Given the description of an element on the screen output the (x, y) to click on. 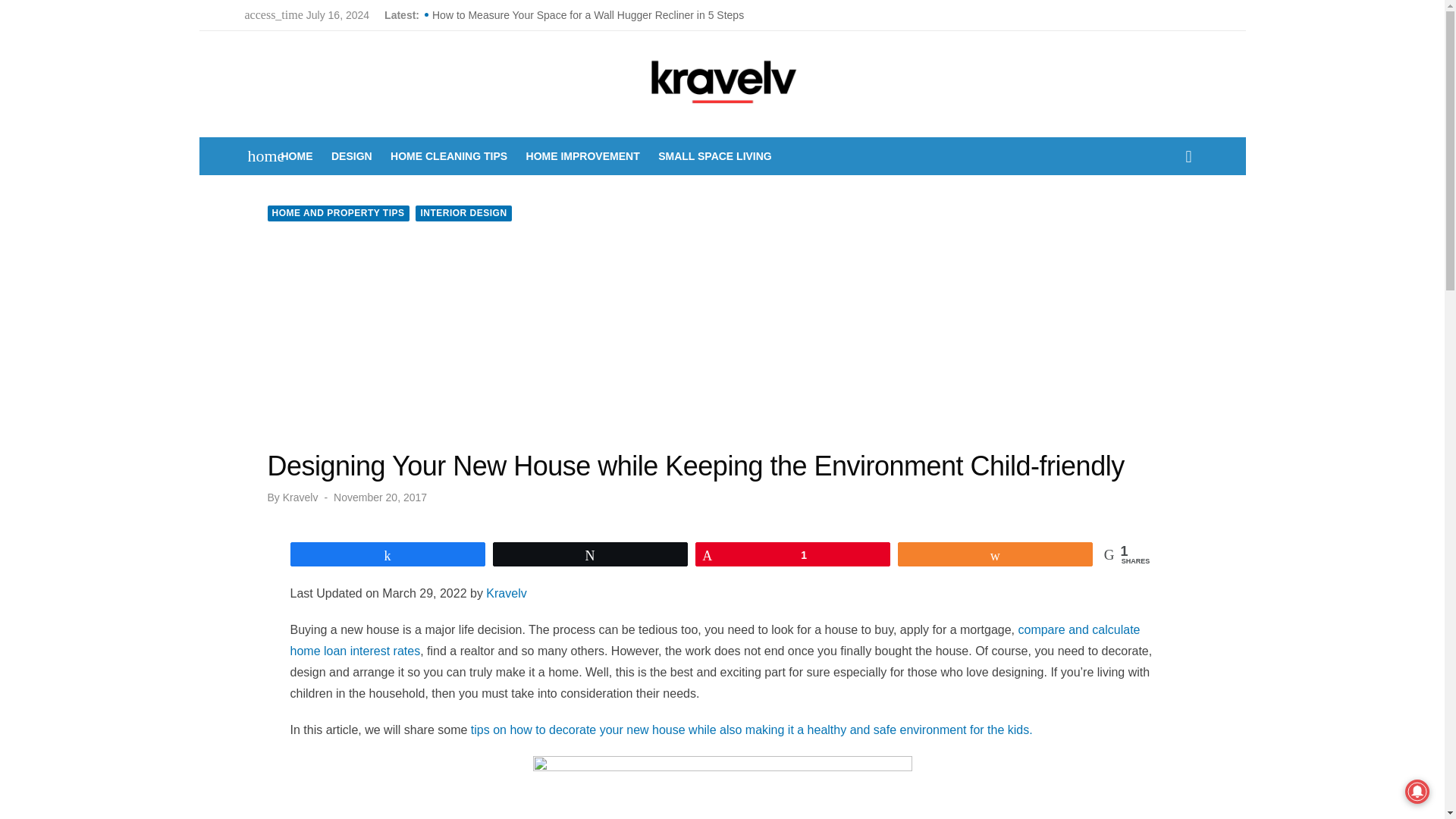
home (258, 155)
November 20, 2017 (379, 497)
HOME CLEANING TIPS (449, 156)
INTERIOR DESIGN (462, 213)
Home Improvement Tips (582, 156)
Small Space Living (714, 156)
SMALL SPACE LIVING (714, 156)
Kravelv (300, 497)
HOME AND PROPERTY TIPS (337, 213)
compare and calculate home loan interest rates (714, 640)
HOME (296, 156)
DESIGN (352, 156)
Kravelv (296, 156)
